Given the description of an element on the screen output the (x, y) to click on. 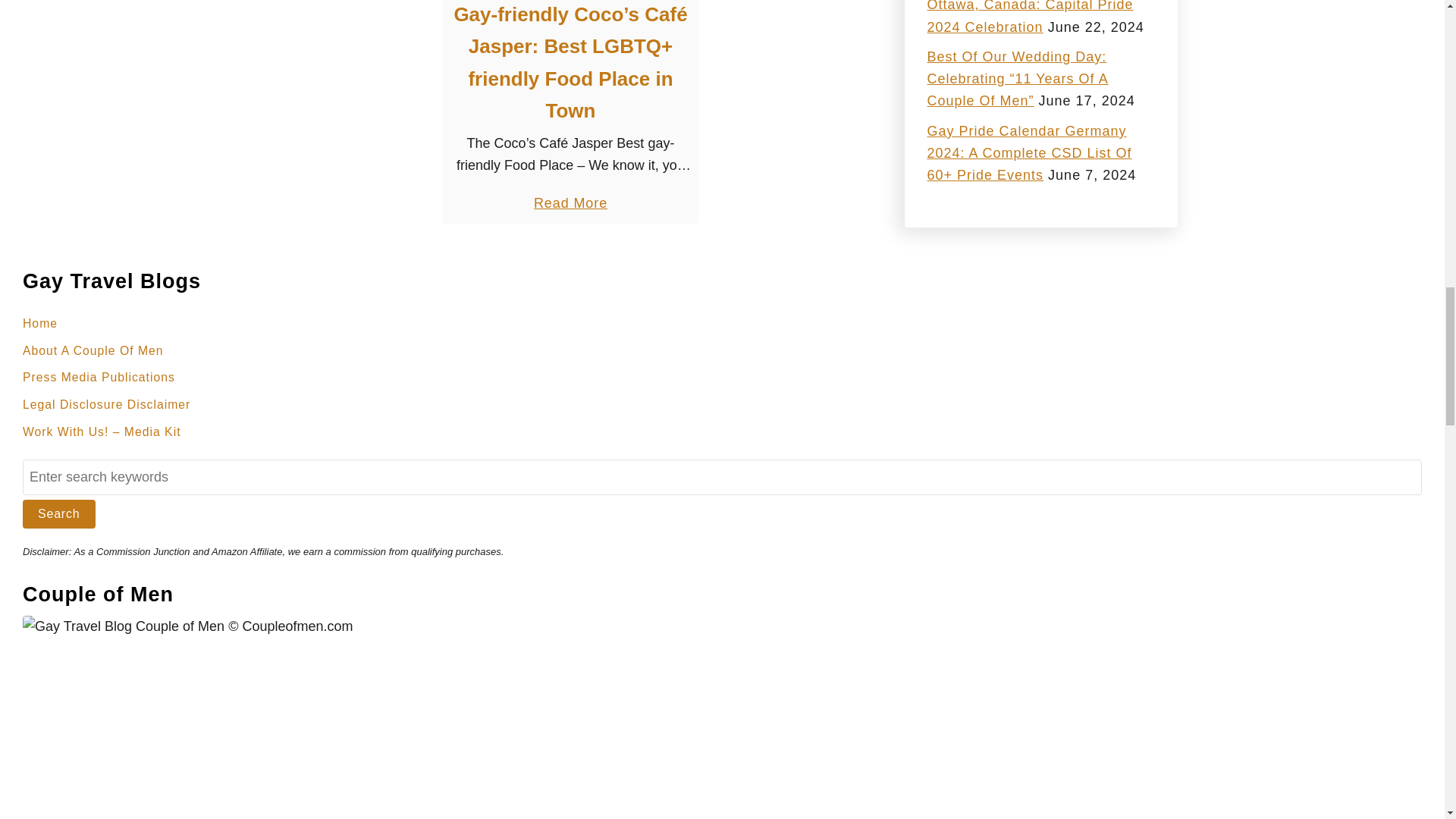
Search (59, 513)
Search for: (722, 477)
Search (59, 513)
